Given the description of an element on the screen output the (x, y) to click on. 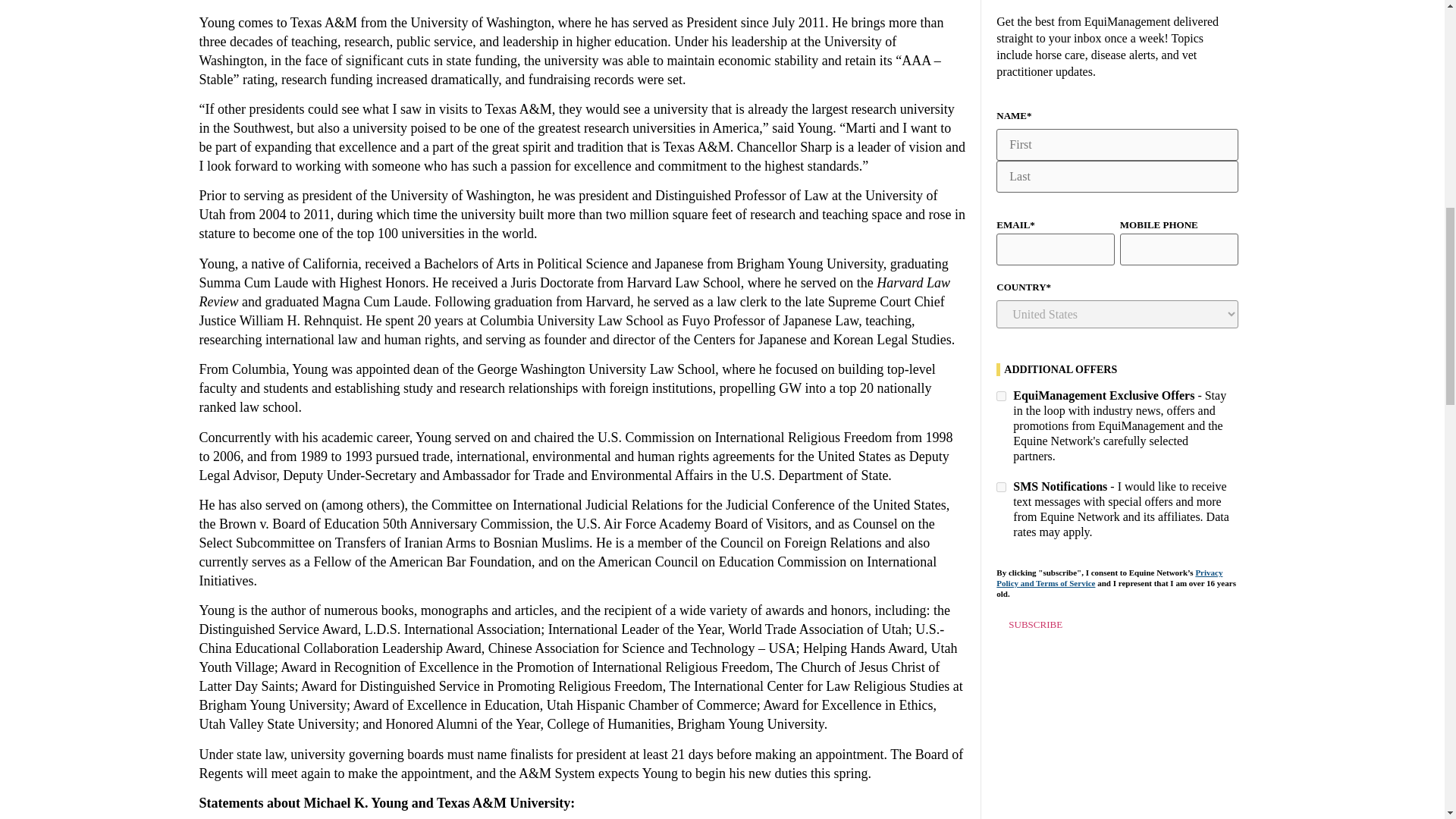
Subscribe (1034, 624)
SMS Notifications (1000, 487)
157be729-a691-4459-9ca3-c1f10a60b90e (1000, 396)
